Given the description of an element on the screen output the (x, y) to click on. 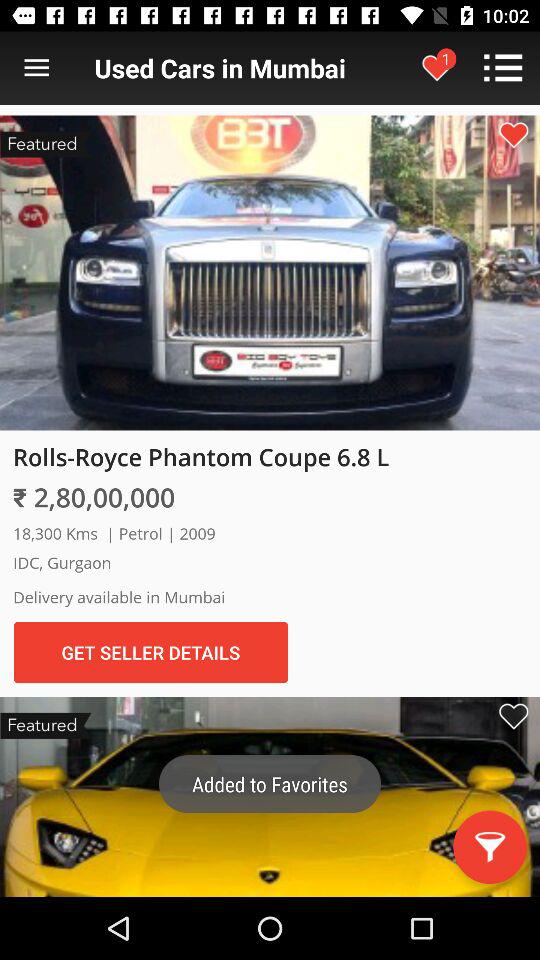
click for list view (36, 68)
